Given the description of an element on the screen output the (x, y) to click on. 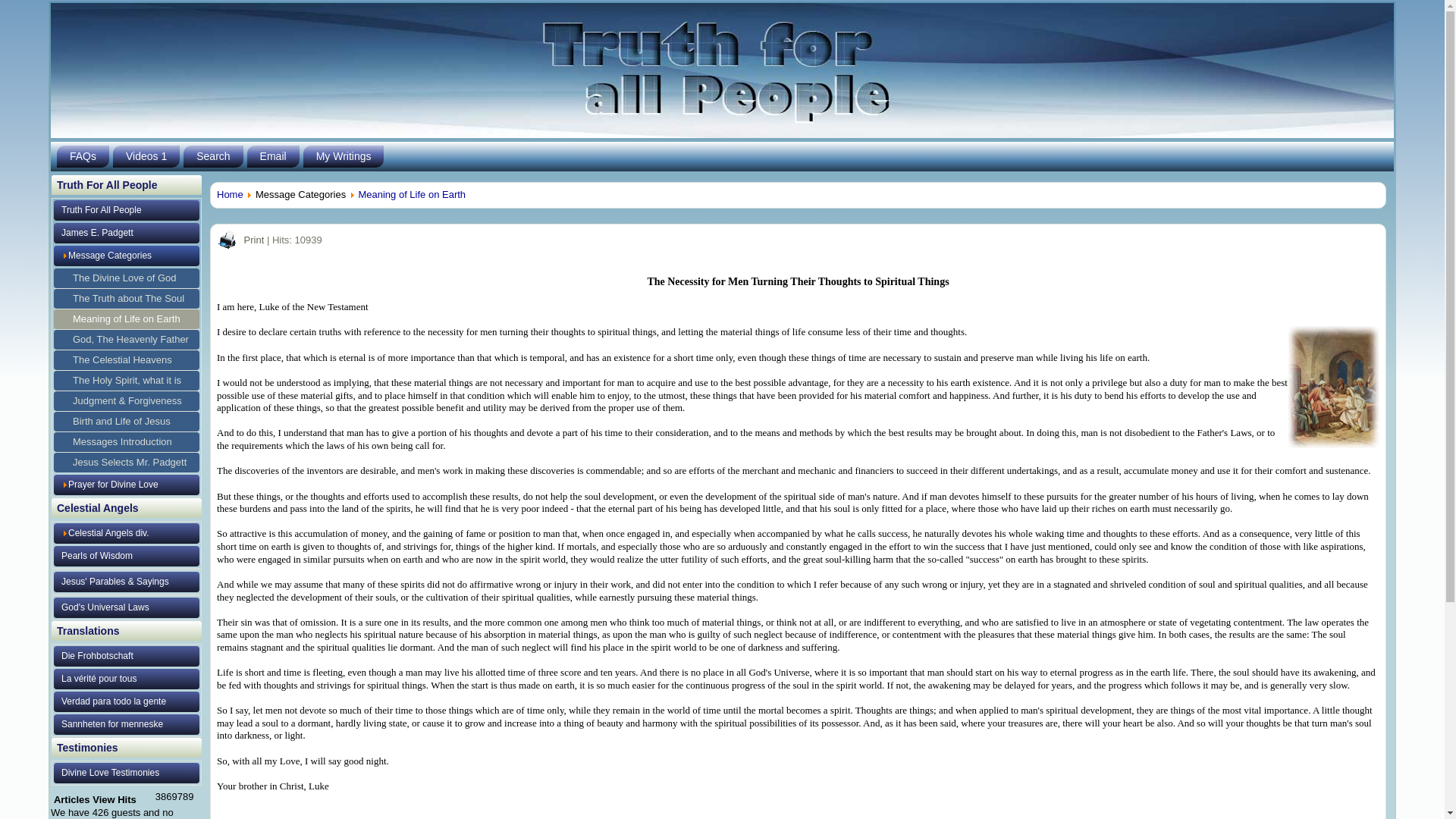
Search (213, 156)
The Holy Spirit, what it is (126, 380)
God, The Heavenly Father (126, 339)
The Celestial Heavens (126, 360)
FAQs (82, 156)
The Divine Love of God (126, 278)
Birth and Life of Jesus (126, 421)
Prayer for Divine Love (126, 485)
Truth For All People (126, 209)
My Writings (343, 156)
